Given the description of an element on the screen output the (x, y) to click on. 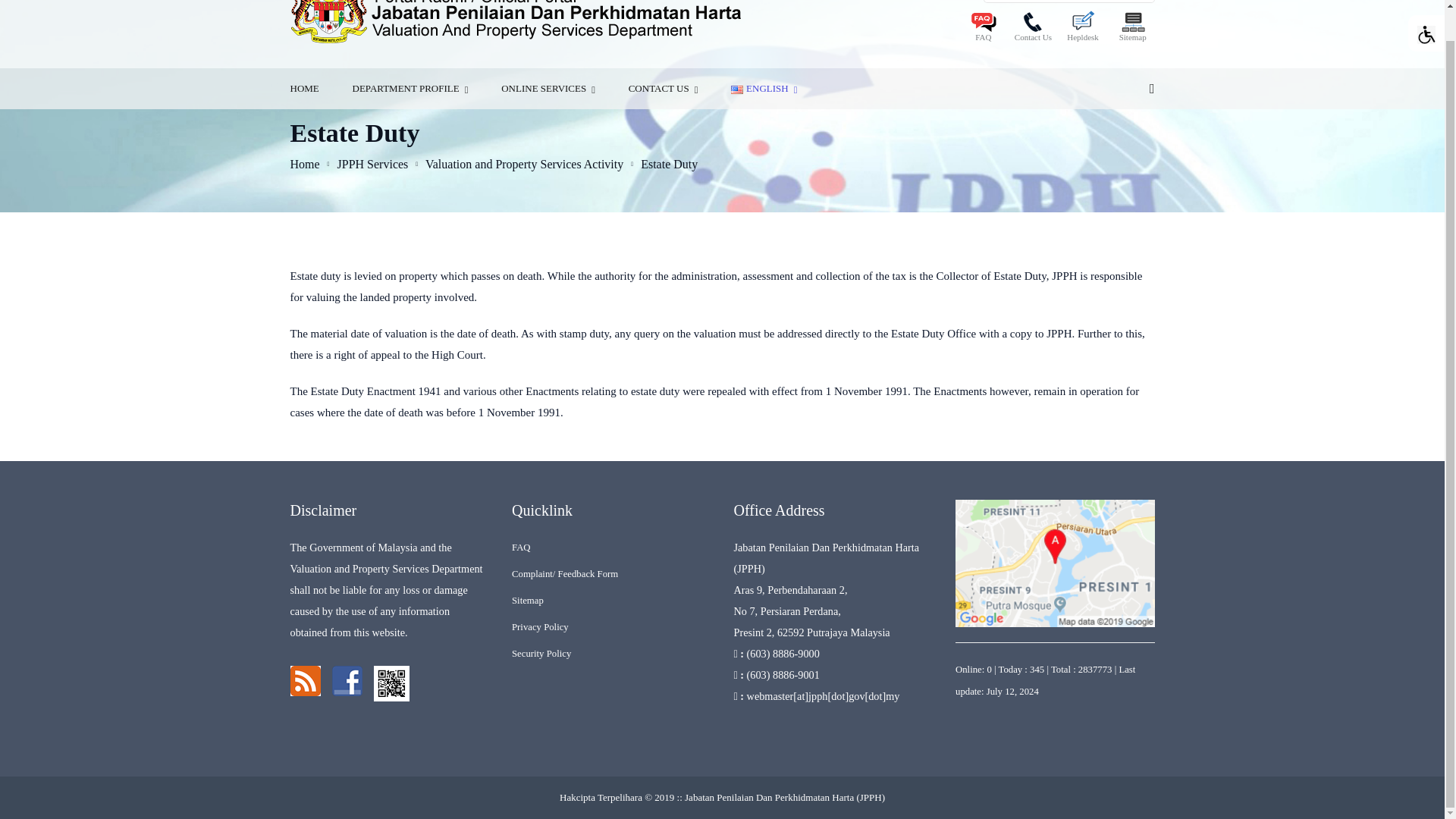
Sitemap (1133, 28)
Hepldesk (1083, 28)
English (736, 89)
Contact Us (1032, 28)
DEPARTMENT PROFILE (410, 87)
FAQ (983, 28)
ONLINE SERVICES (547, 87)
